Given the description of an element on the screen output the (x, y) to click on. 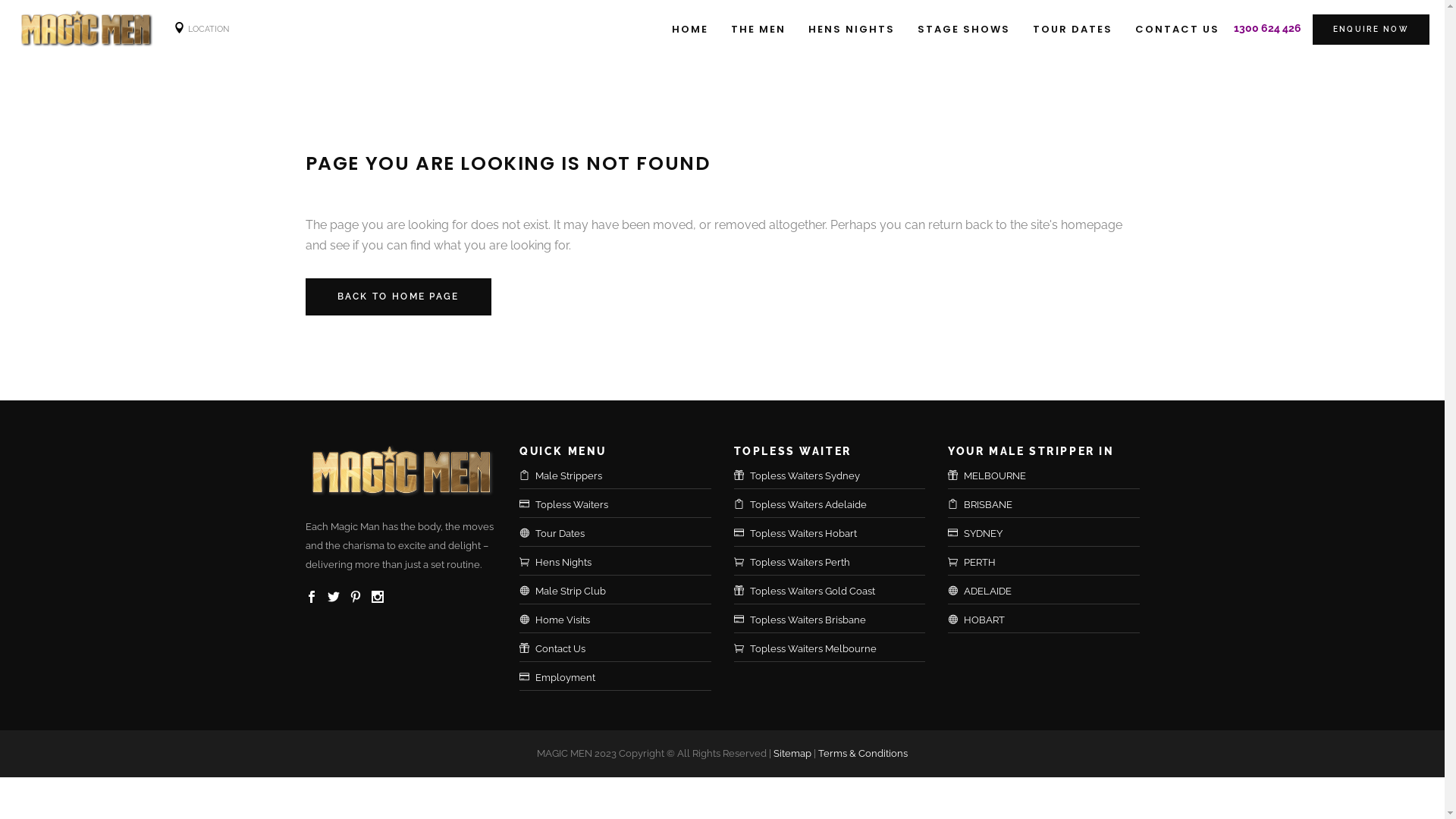
Sitemap Element type: text (792, 753)
CONTACT US Element type: text (1176, 28)
Male Strippers Element type: text (623, 475)
Topless Waiters Gold Coast Element type: text (837, 590)
Tour Dates Element type: text (623, 533)
HENS NIGHTS Element type: text (851, 28)
HOBART Element type: text (1051, 619)
PERTH Element type: text (1051, 561)
Topless Waiters Element type: text (623, 504)
THE MEN Element type: text (758, 28)
HOME Element type: text (689, 28)
Home Visits Element type: text (623, 619)
Topless Waiters Adelaide Element type: text (837, 504)
Hens Nights Element type: text (623, 561)
1300 624 426 Element type: text (1267, 27)
SYDNEY Element type: text (1051, 533)
Male Strip Club Element type: text (623, 590)
ENQUIRE NOW Element type: text (1370, 29)
Employment Element type: text (623, 677)
Terms & Conditions Element type: text (862, 753)
Topless Waiters Sydney Element type: text (837, 475)
ADELAIDE Element type: text (1051, 590)
Topless Waiters Hobart Element type: text (837, 533)
BACK TO HOME PAGE Element type: text (397, 296)
BRISBANE Element type: text (1051, 504)
Topless Waiters Perth Element type: text (837, 561)
MELBOURNE Element type: text (1051, 475)
Contact Us Element type: text (623, 648)
TOUR DATES Element type: text (1072, 28)
STAGE SHOWS Element type: text (963, 28)
Topless Waiters Brisbane Element type: text (837, 619)
Topless Waiters Melbourne Element type: text (837, 648)
